Given the description of an element on the screen output the (x, y) to click on. 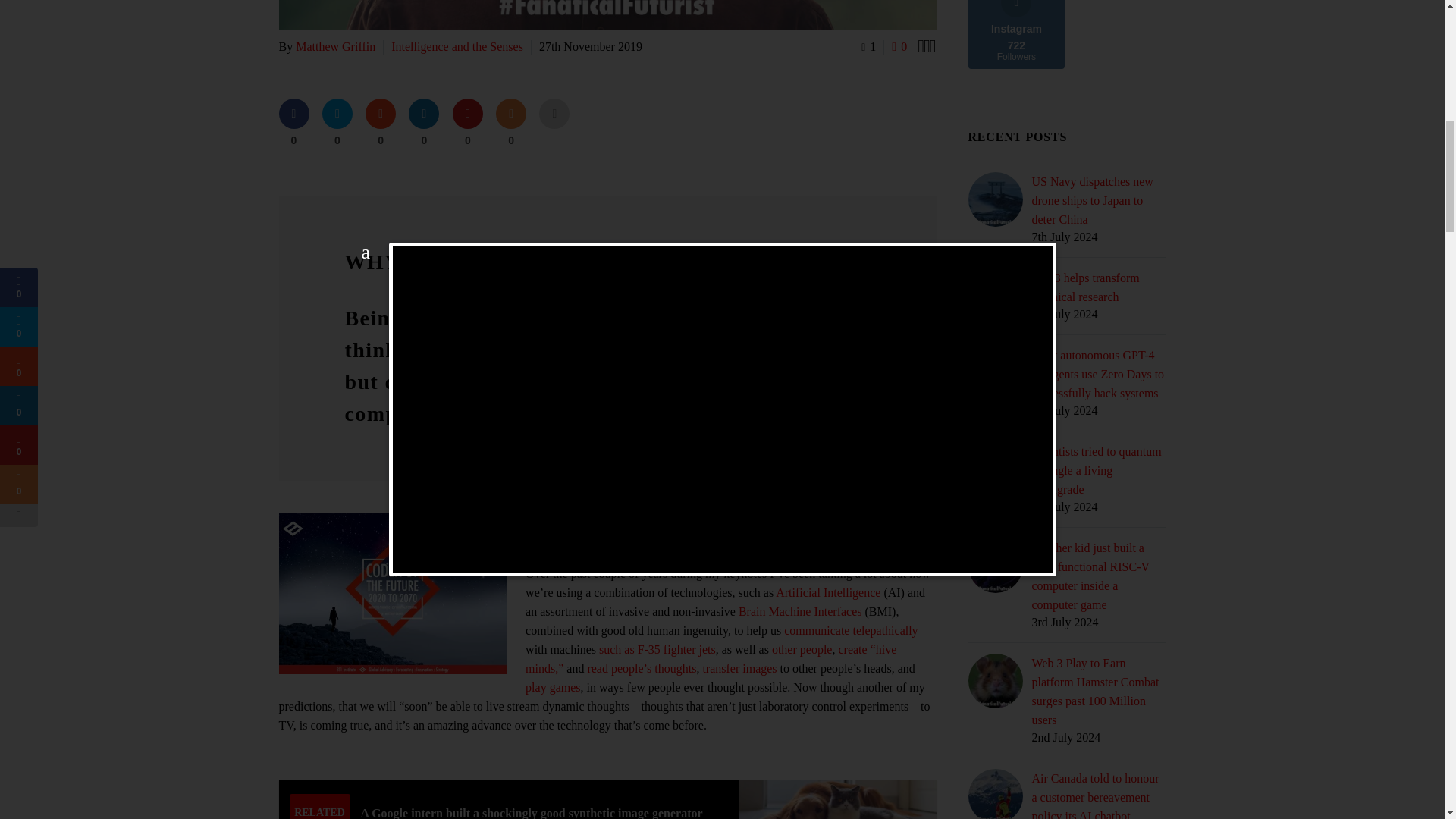
0 (380, 122)
0 (424, 122)
0 (899, 46)
keynote (553, 541)
free E-Book (857, 522)
browse (609, 541)
Like this (899, 46)
Matthew Griffin (335, 46)
0 (293, 122)
0 (336, 122)
View all posts in Intelligence and the Senses (456, 46)
Connect (739, 522)
Previous post (920, 46)
Intelligence and the Senses (456, 46)
1 (868, 46)
